Given the description of an element on the screen output the (x, y) to click on. 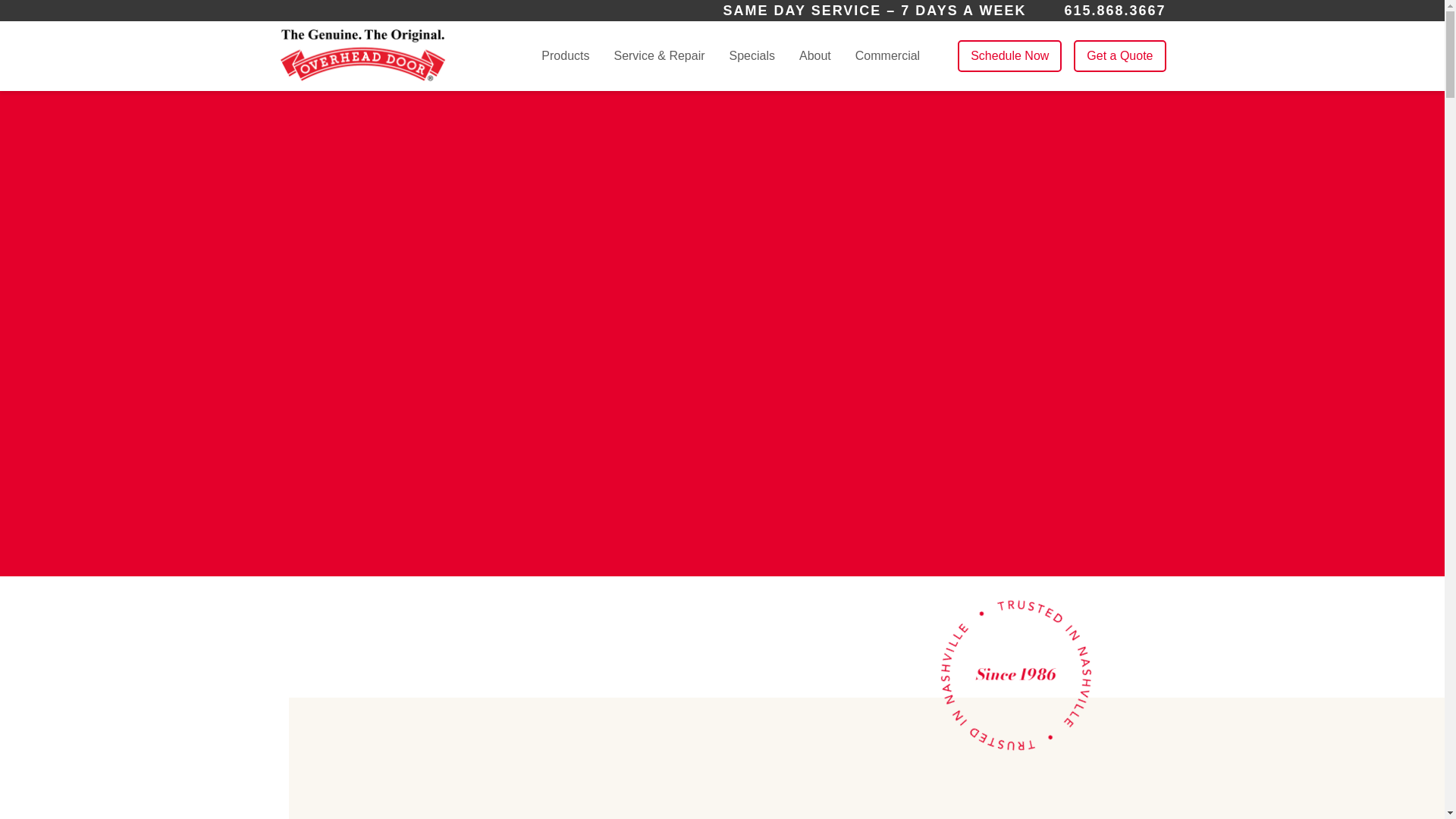
About (815, 55)
Schedule Now (1009, 56)
Specials (751, 55)
615.868.3667 (1115, 10)
Commercial (888, 55)
Products (565, 55)
Get a Quote (1120, 56)
